Given the description of an element on the screen output the (x, y) to click on. 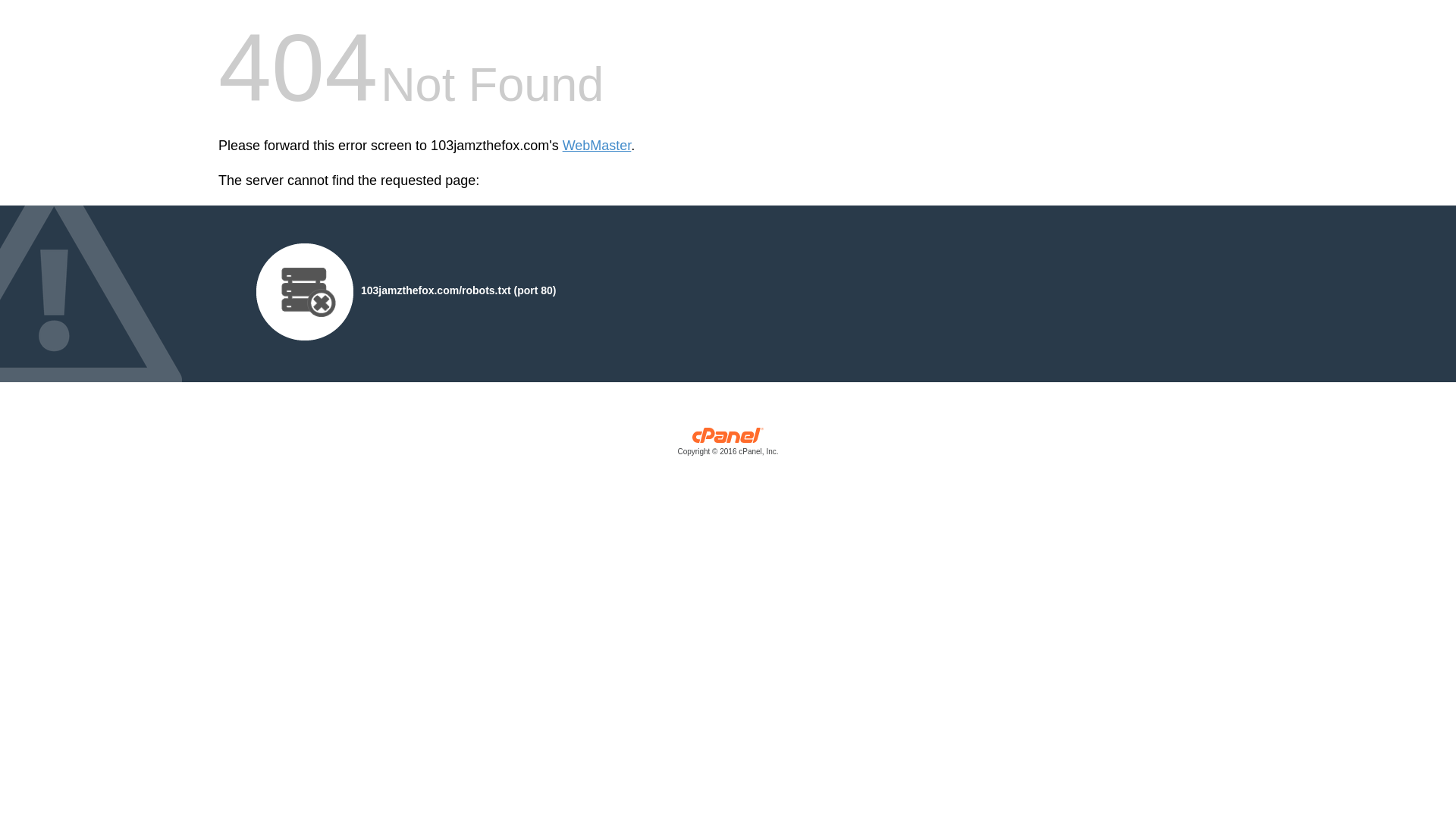
WebMaster Element type: text (596, 145)
